Given the description of an element on the screen output the (x, y) to click on. 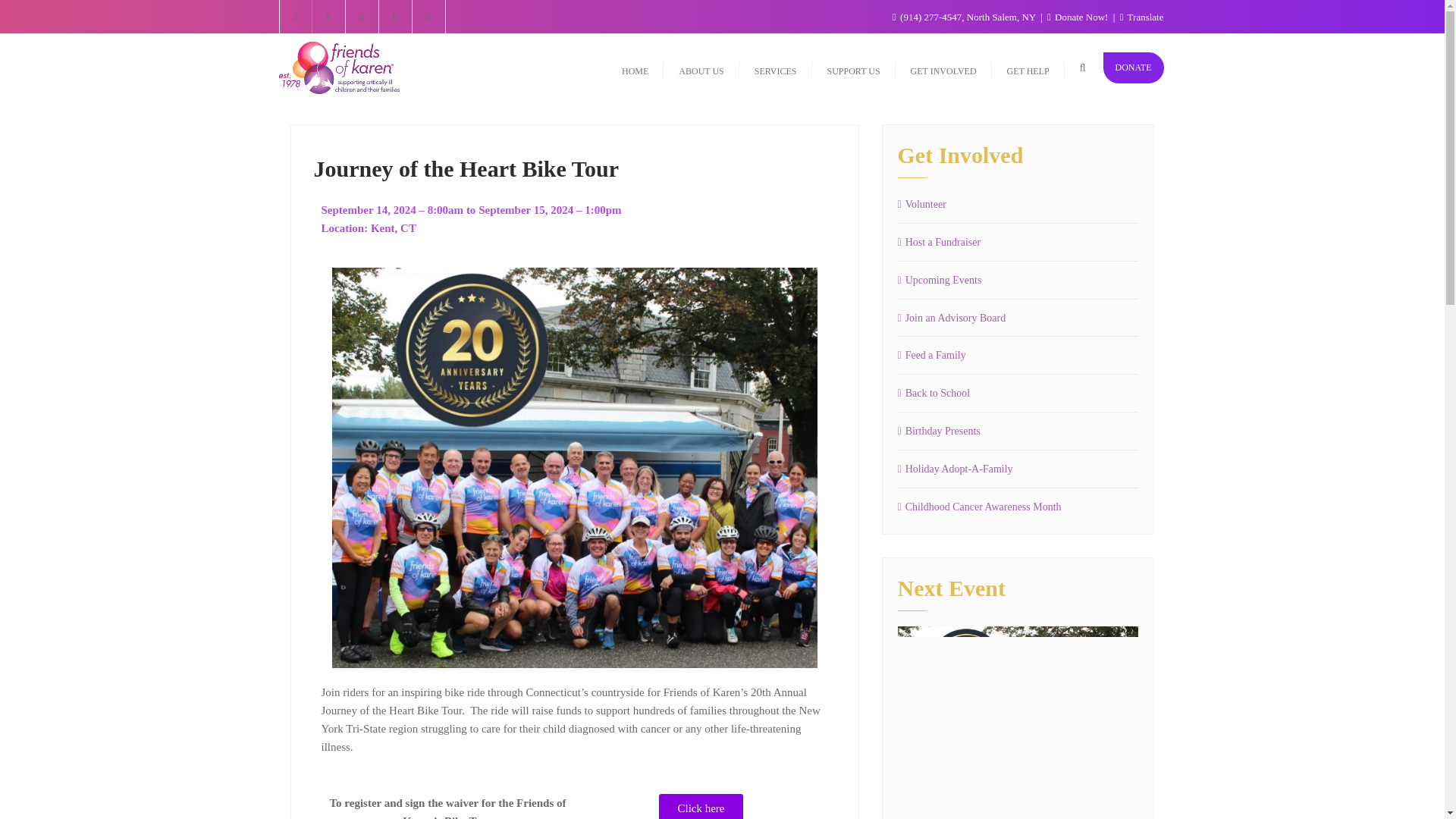
HOME (635, 67)
SERVICES (775, 67)
ABOUT US (700, 67)
Donate Now! (1078, 16)
Next Event (1018, 722)
SUPPORT US (852, 67)
Translate (1141, 16)
